Given the description of an element on the screen output the (x, y) to click on. 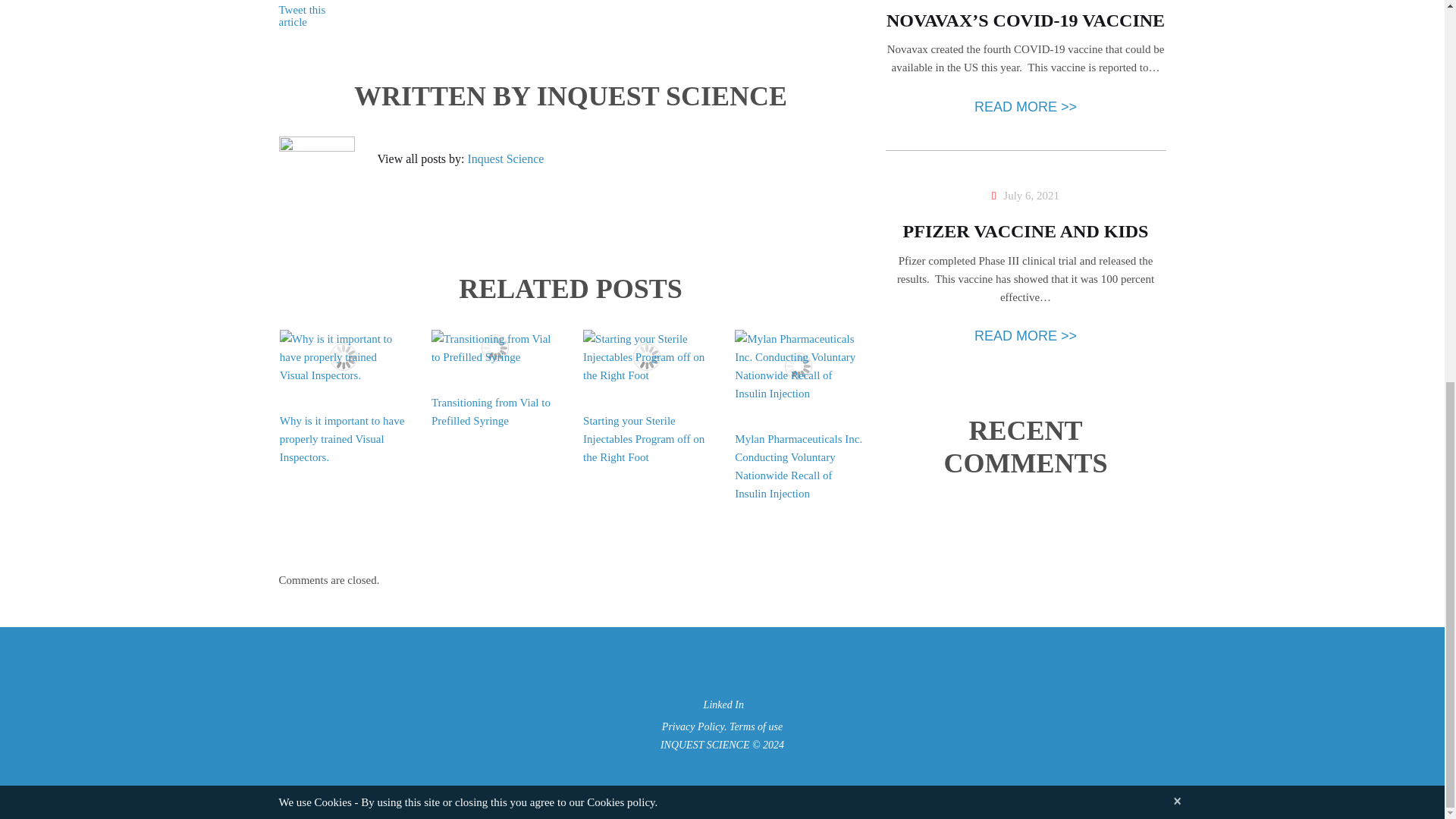
PFIZER VACCINE AND KIDS (1025, 230)
Terms of use (756, 726)
Permanent Link to Pfizer Vaccine and Kids (1025, 230)
Transitioning from Vial to Prefilled Syringe (490, 410)
Privacy Policy (692, 726)
INQUEST SCIENCE (662, 95)
Privacy Policy (692, 726)
Inquest Science (505, 157)
INQUEST SCIENCE (705, 744)
Linked In (722, 705)
Transitioning from Vial to Prefilled Syringe (494, 347)
